Given the description of an element on the screen output the (x, y) to click on. 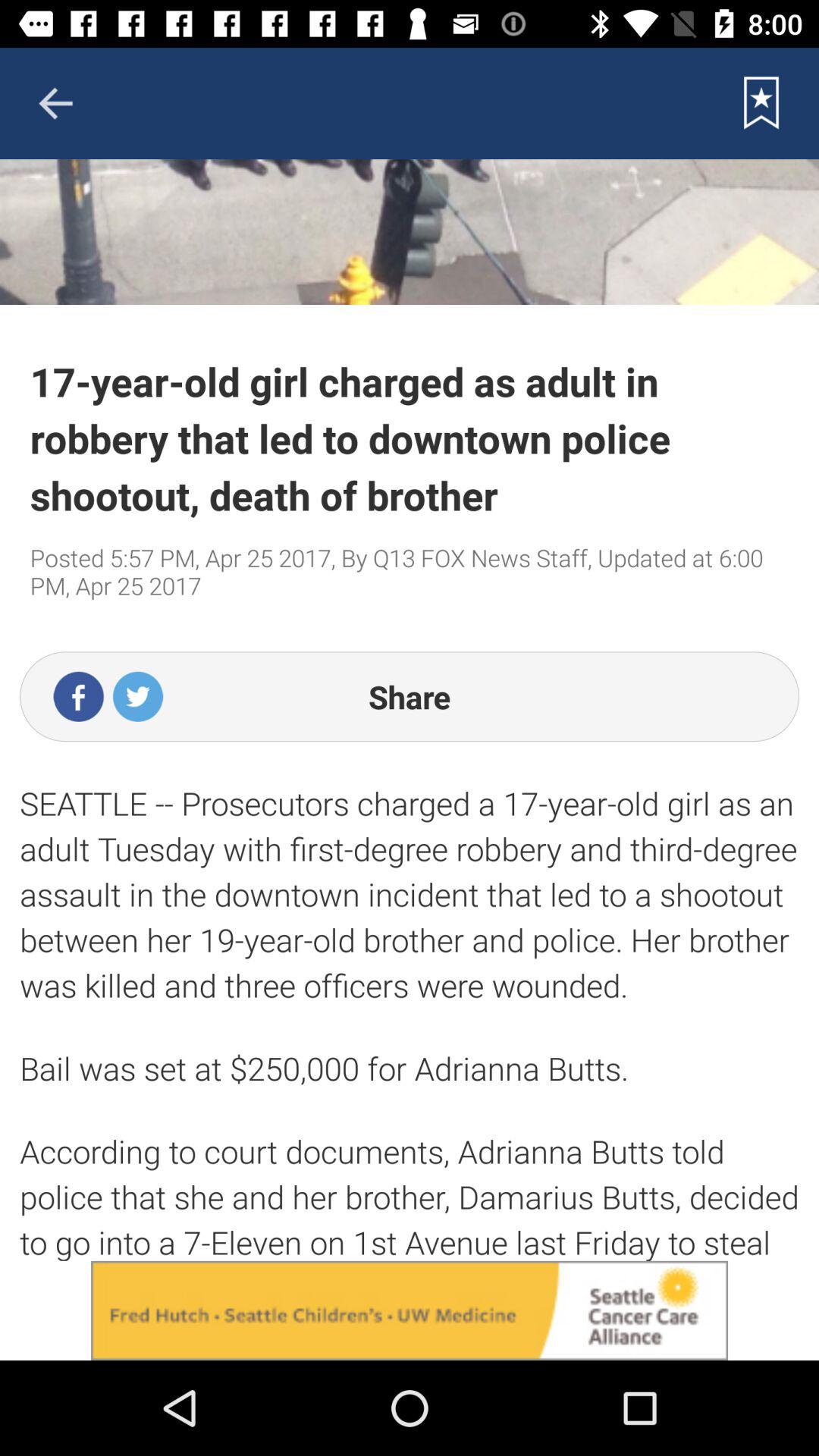
go back (55, 103)
